Given the description of an element on the screen output the (x, y) to click on. 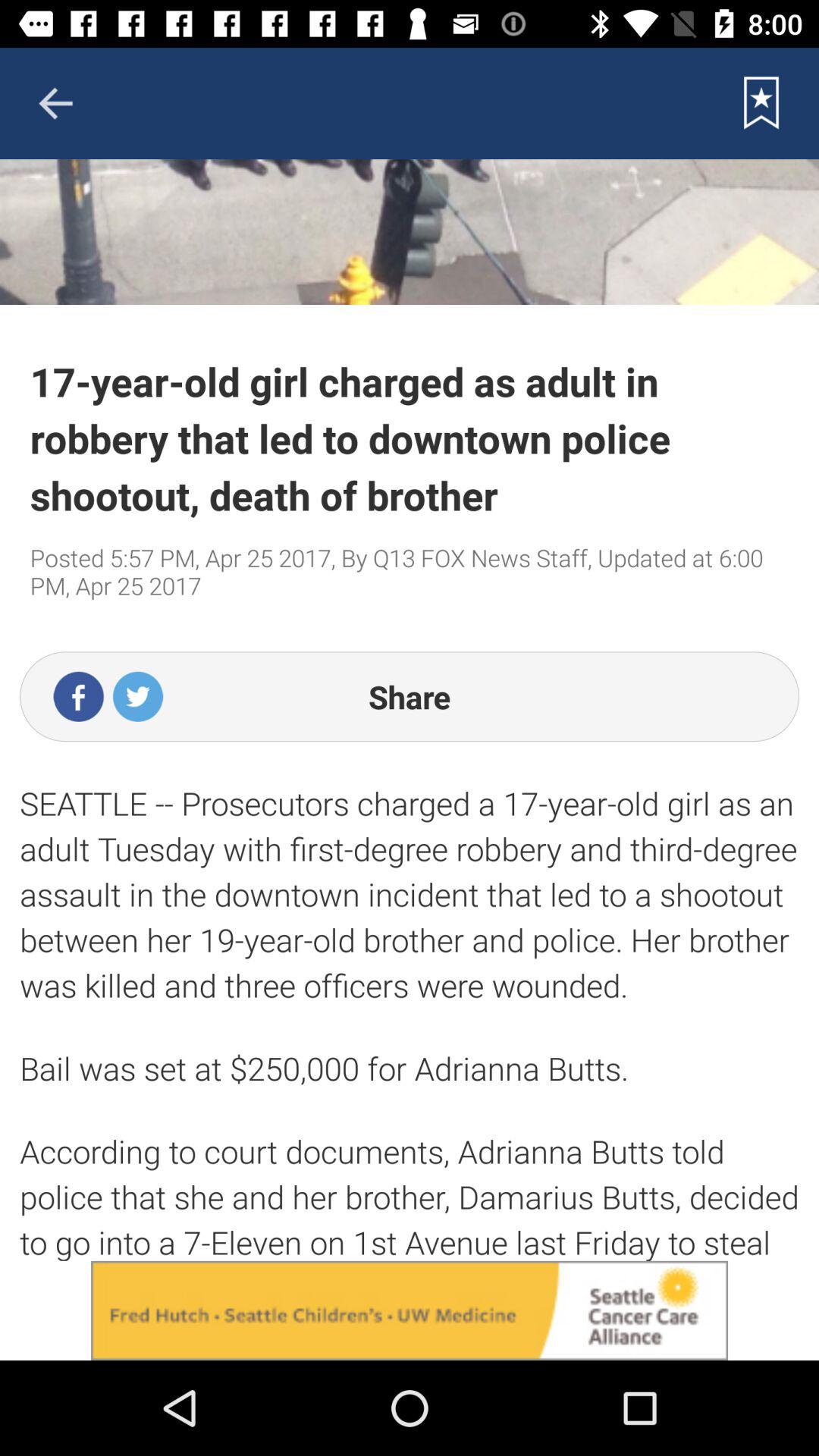
go back (55, 103)
